Given the description of an element on the screen output the (x, y) to click on. 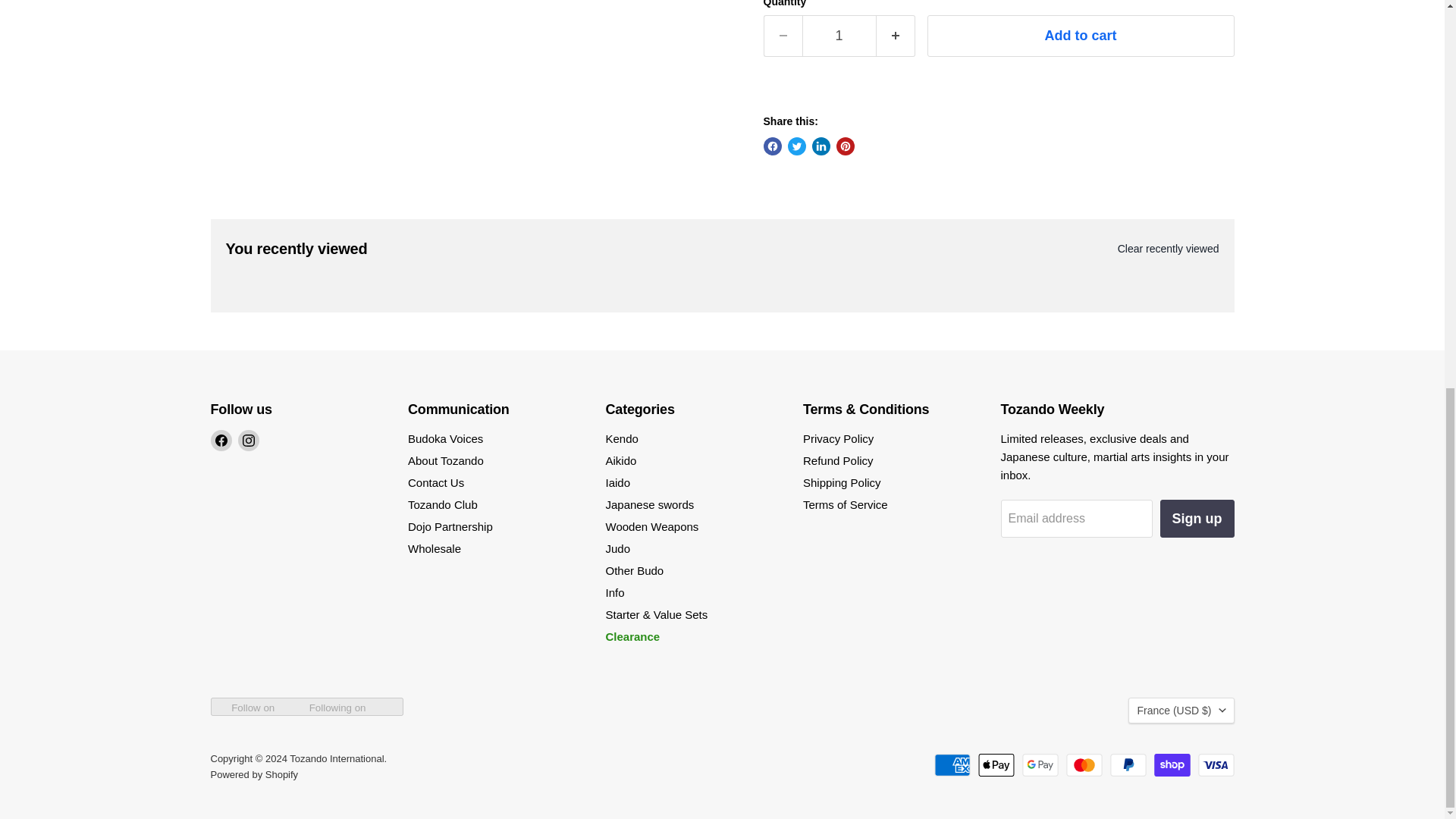
1 (839, 35)
Facebook (221, 440)
Instagram (248, 440)
